Given the description of an element on the screen output the (x, y) to click on. 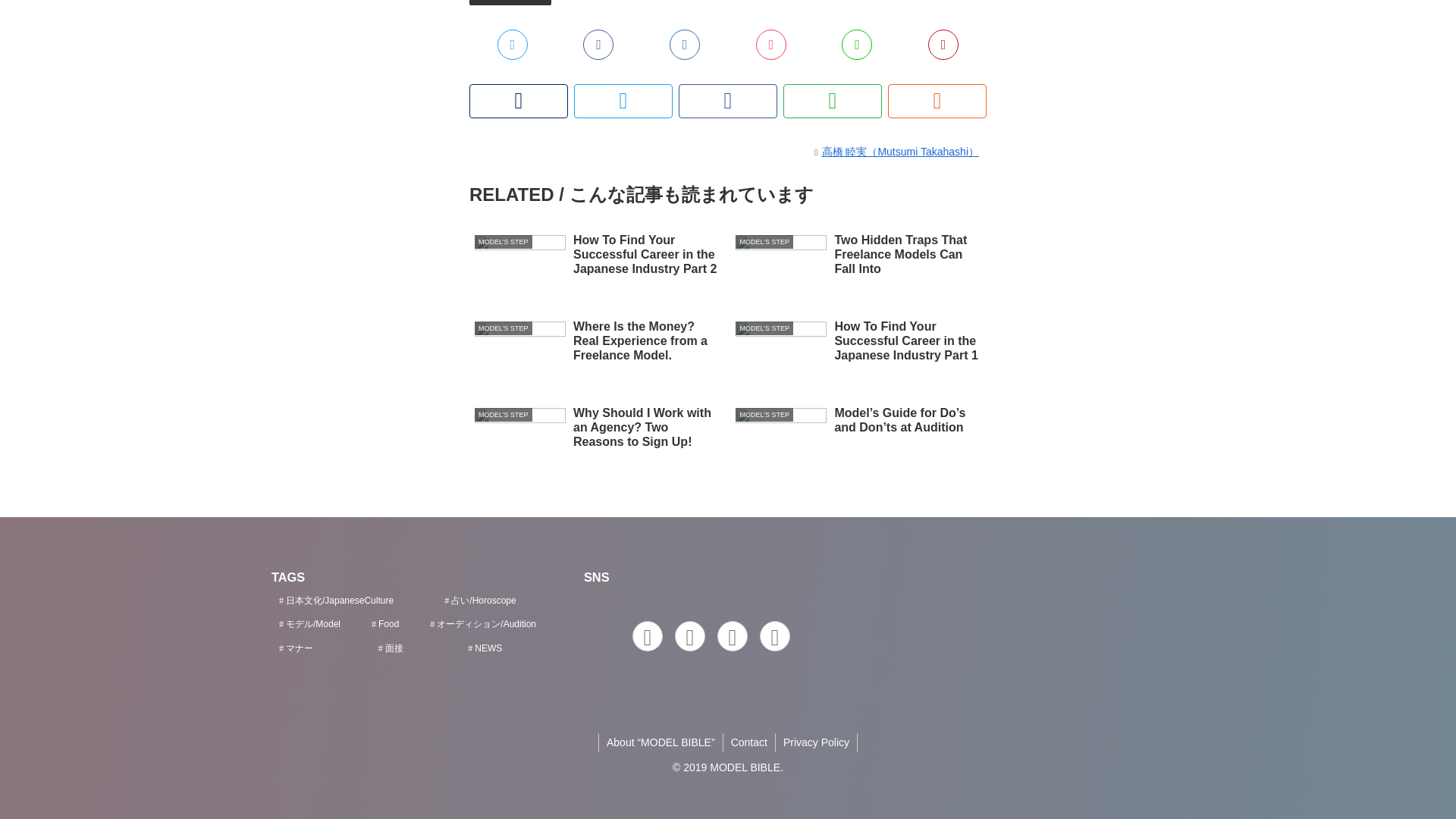
Two Hidden Traps That Freelance Models Can Fall Into (858, 262)
Where Is the Money? Real Experience from a Freelance Model. (596, 348)
